Given the description of an element on the screen output the (x, y) to click on. 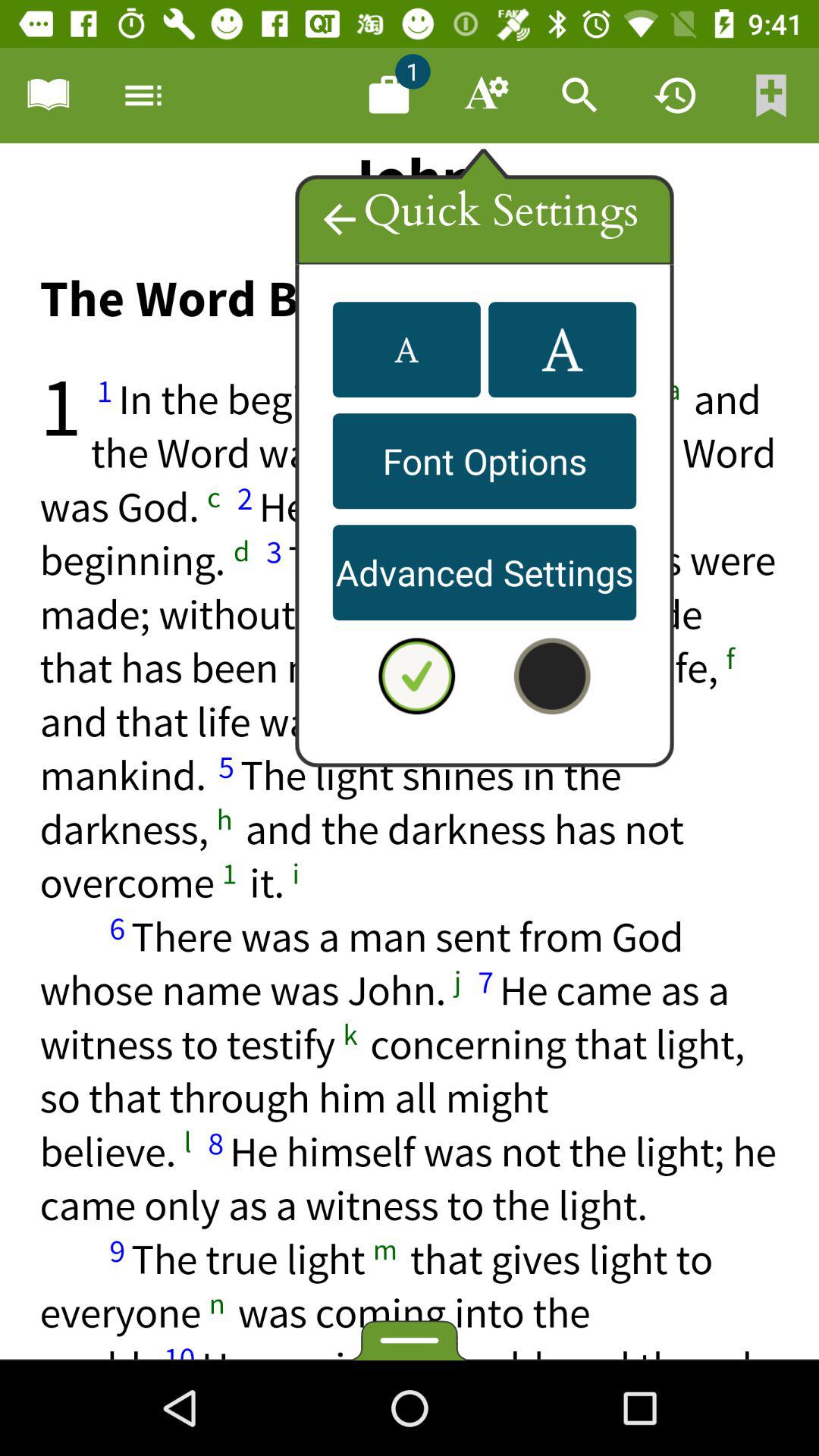
quick highlighter (409, 751)
